Given the description of an element on the screen output the (x, y) to click on. 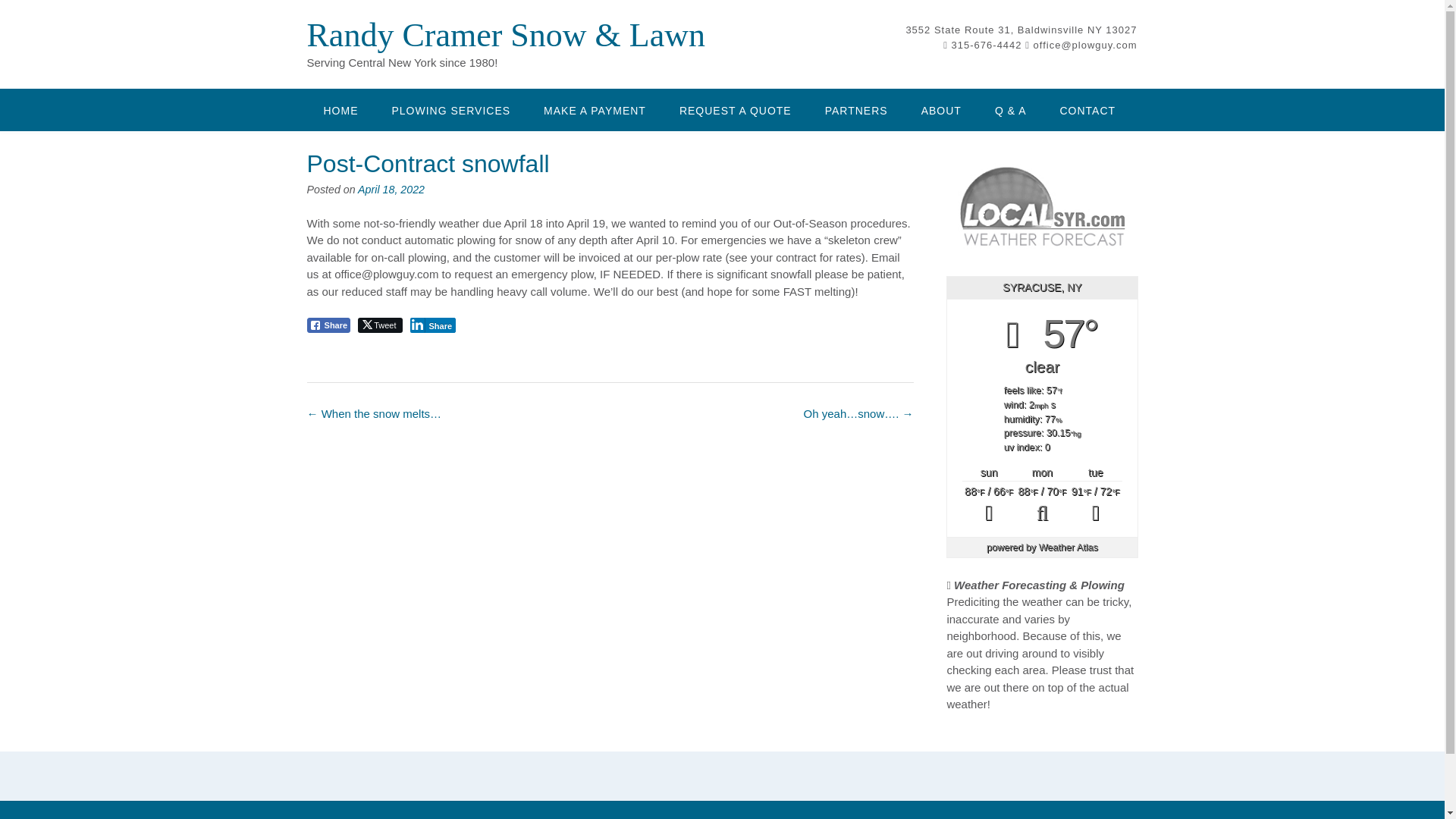
HOME (339, 109)
PM Thunderstorms (1095, 505)
PLOWING SERVICES (450, 109)
Sunny (988, 505)
PARTNERS (856, 109)
Partly Cloudy (1041, 505)
Share (432, 324)
CONTACT (1087, 109)
Tweet (379, 324)
REQUEST A QUOTE (735, 109)
Share (327, 324)
April 18, 2022 (391, 189)
ABOUT (941, 109)
MAKE A PAYMENT (594, 109)
